Given the description of an element on the screen output the (x, y) to click on. 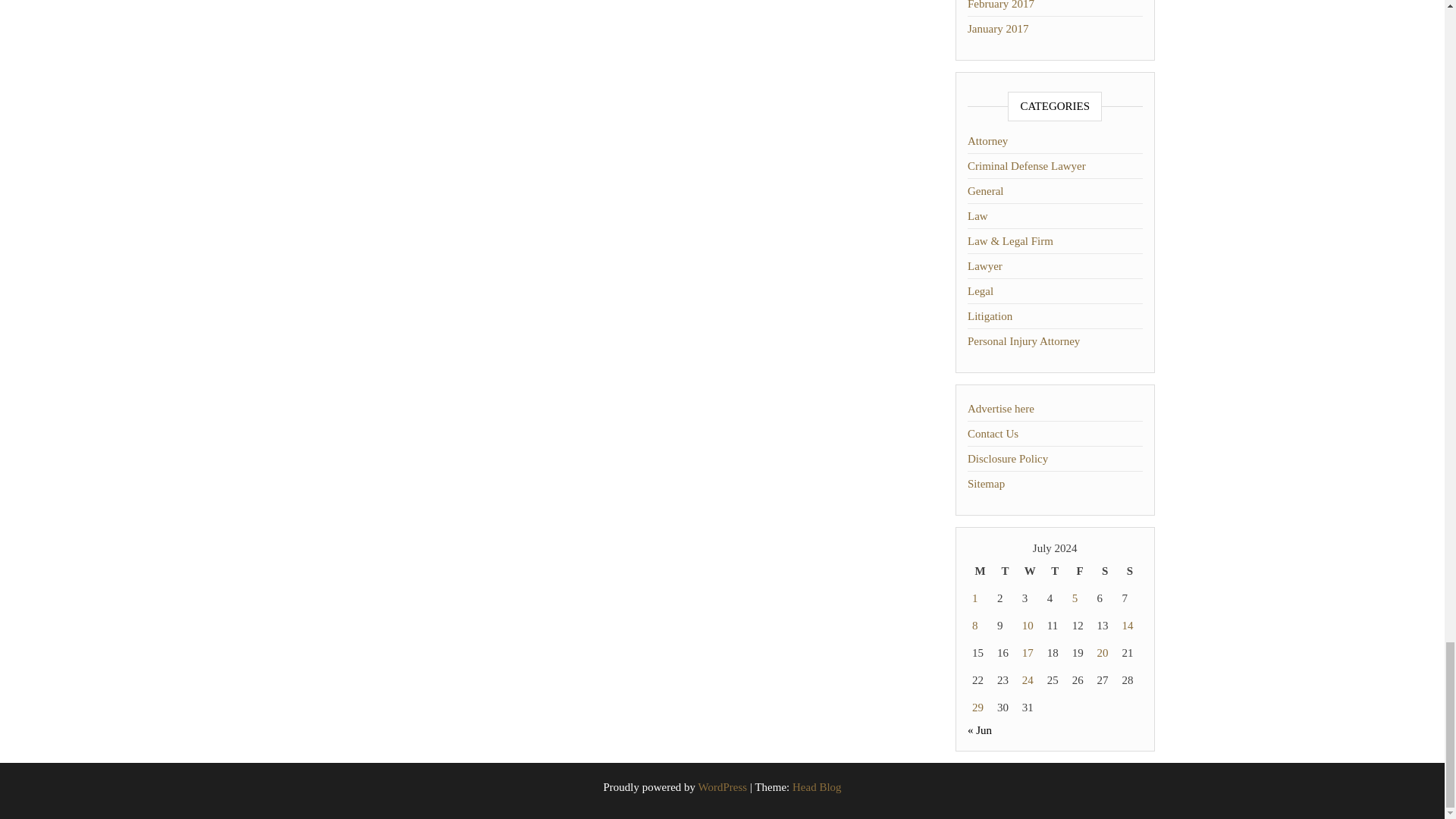
Wednesday (1029, 570)
Tuesday (1004, 570)
Saturday (1105, 570)
Sunday (1130, 570)
Monday (980, 570)
Thursday (1054, 570)
Friday (1080, 570)
